Given the description of an element on the screen output the (x, y) to click on. 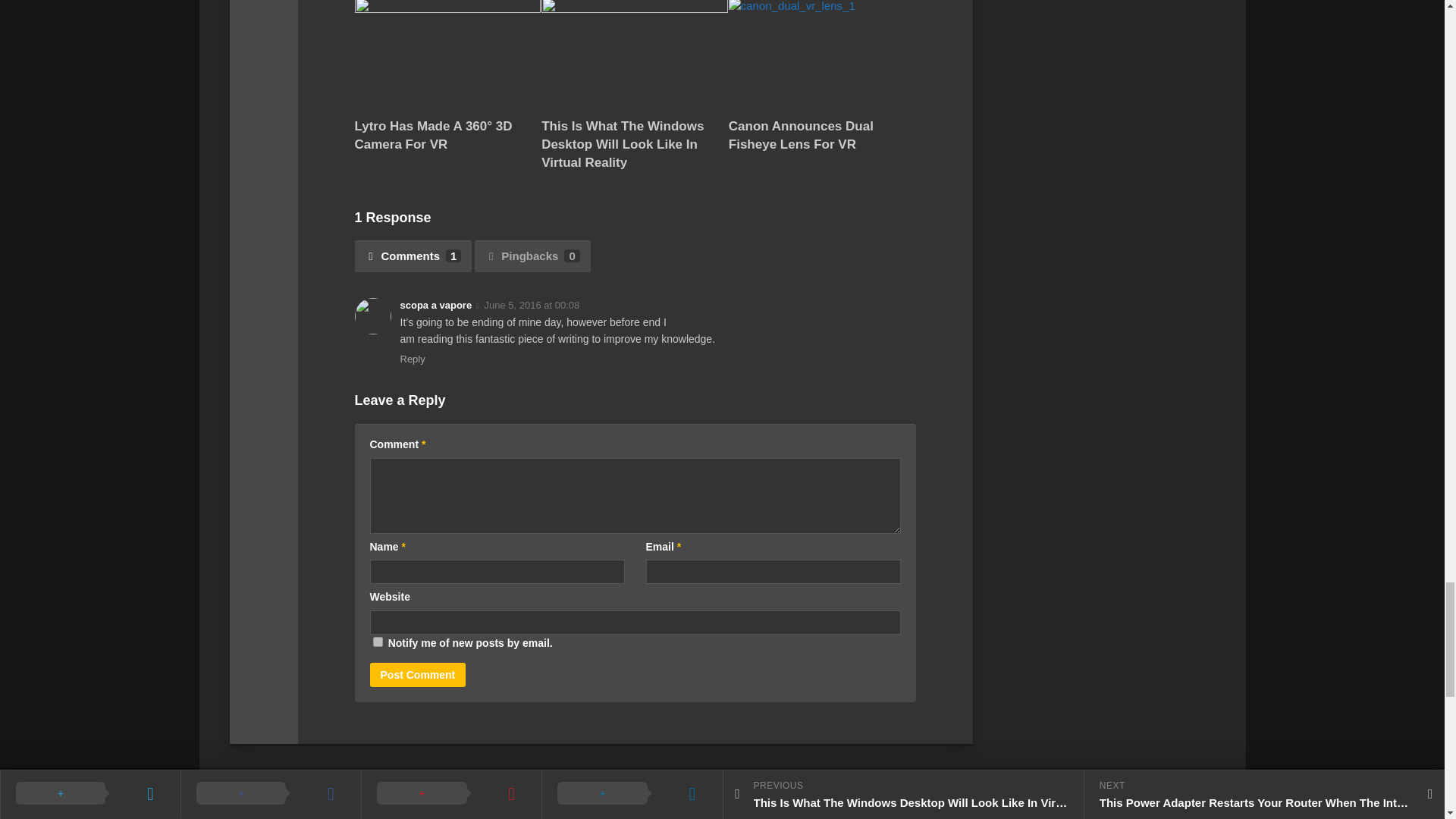
Post Comment (417, 674)
subscribe (377, 642)
